Given the description of an element on the screen output the (x, y) to click on. 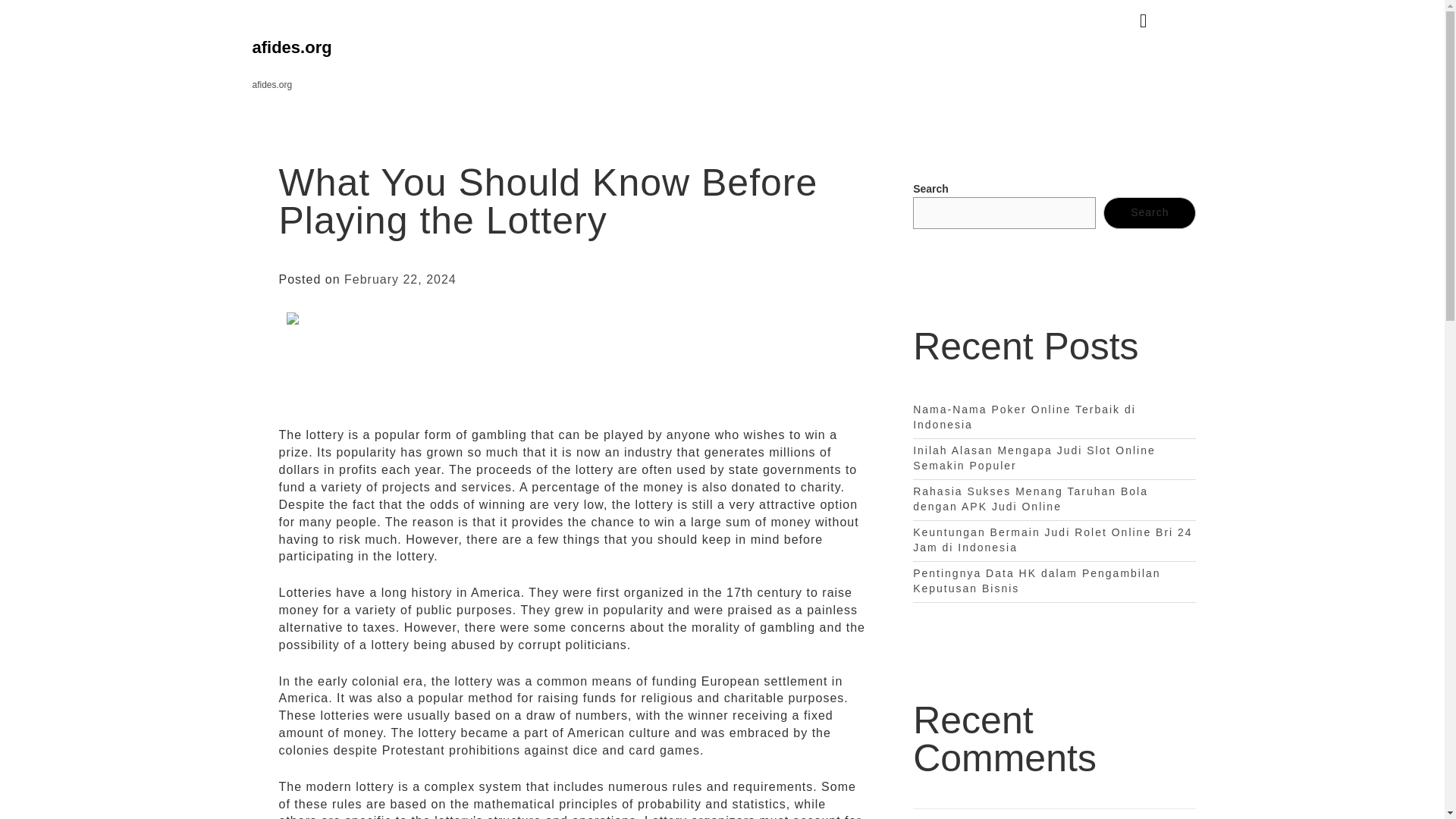
Inilah Alasan Mengapa Judi Slot Online Semakin Populer (1034, 457)
afides.org (291, 46)
Rahasia Sukses Menang Taruhan Bola dengan APK Judi Online (1030, 498)
Pentingnya Data HK dalam Pengambilan Keputusan Bisnis (1036, 580)
Keuntungan Bermain Judi Rolet Online Bri 24 Jam di Indonesia (1052, 539)
Search (1149, 213)
February 22, 2024 (400, 278)
Nama-Nama Poker Online Terbaik di Indonesia (1023, 416)
